Given the description of an element on the screen output the (x, y) to click on. 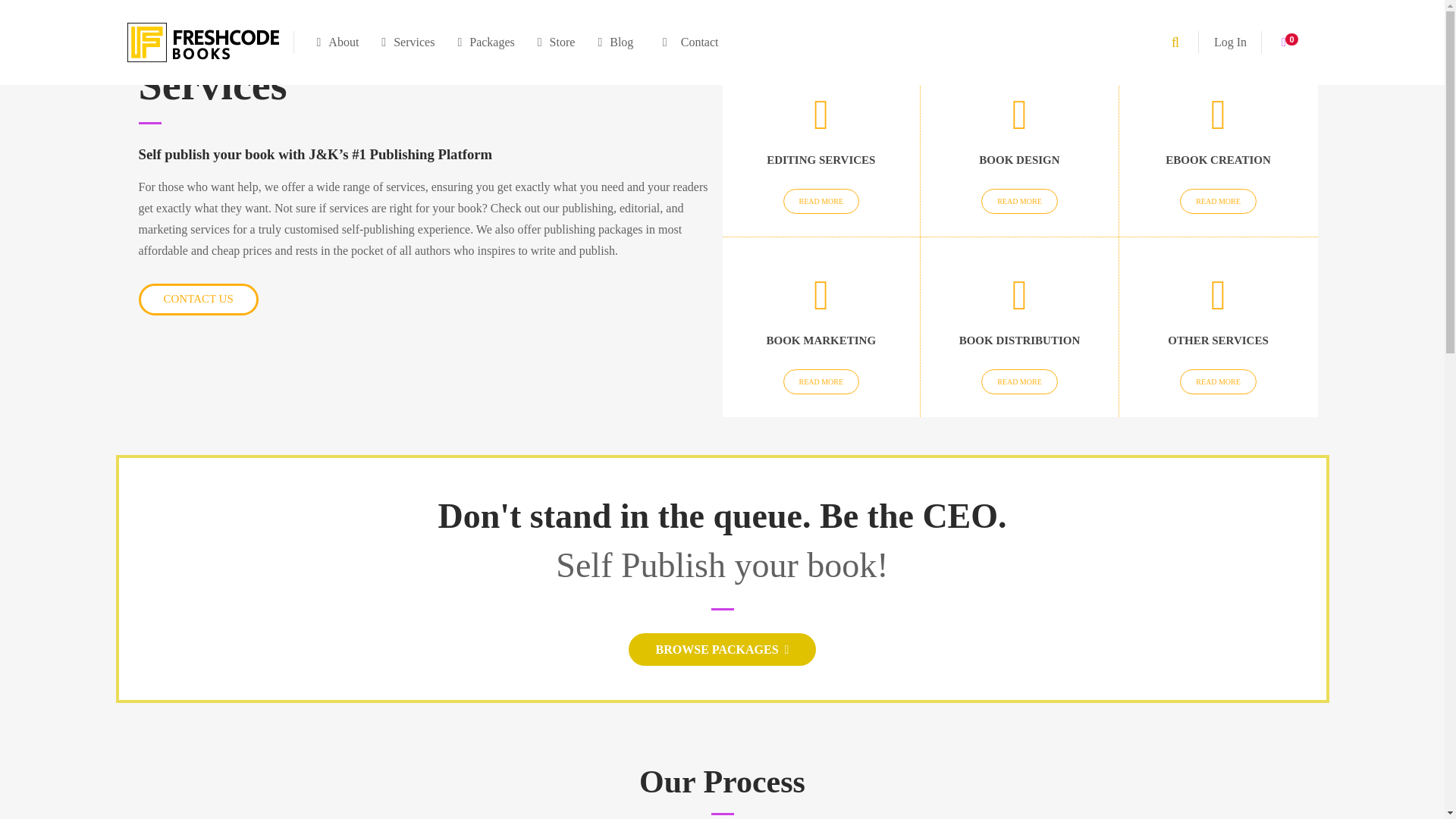
Log In (1230, 42)
Contact (687, 42)
Packages (485, 42)
READ MORE (821, 201)
0 (1288, 42)
CONTACT US (197, 299)
READ MORE (1019, 381)
Services (407, 42)
READ MORE (1019, 201)
READ MORE (1217, 201)
